Given the description of an element on the screen output the (x, y) to click on. 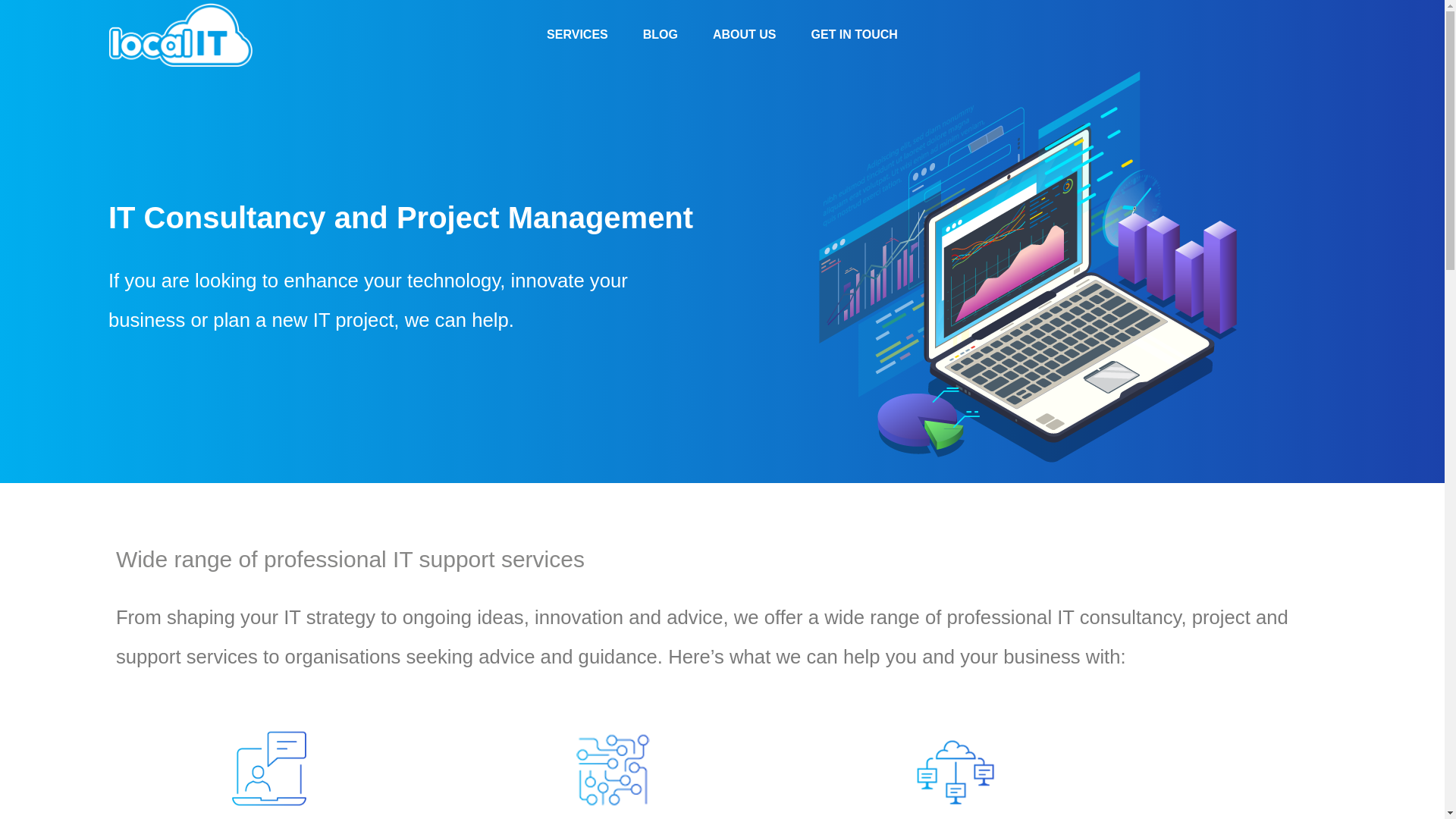
GET IN TOUCH (854, 34)
ABOUT US (744, 34)
SERVICES (577, 34)
BLOG (660, 34)
